Given the description of an element on the screen output the (x, y) to click on. 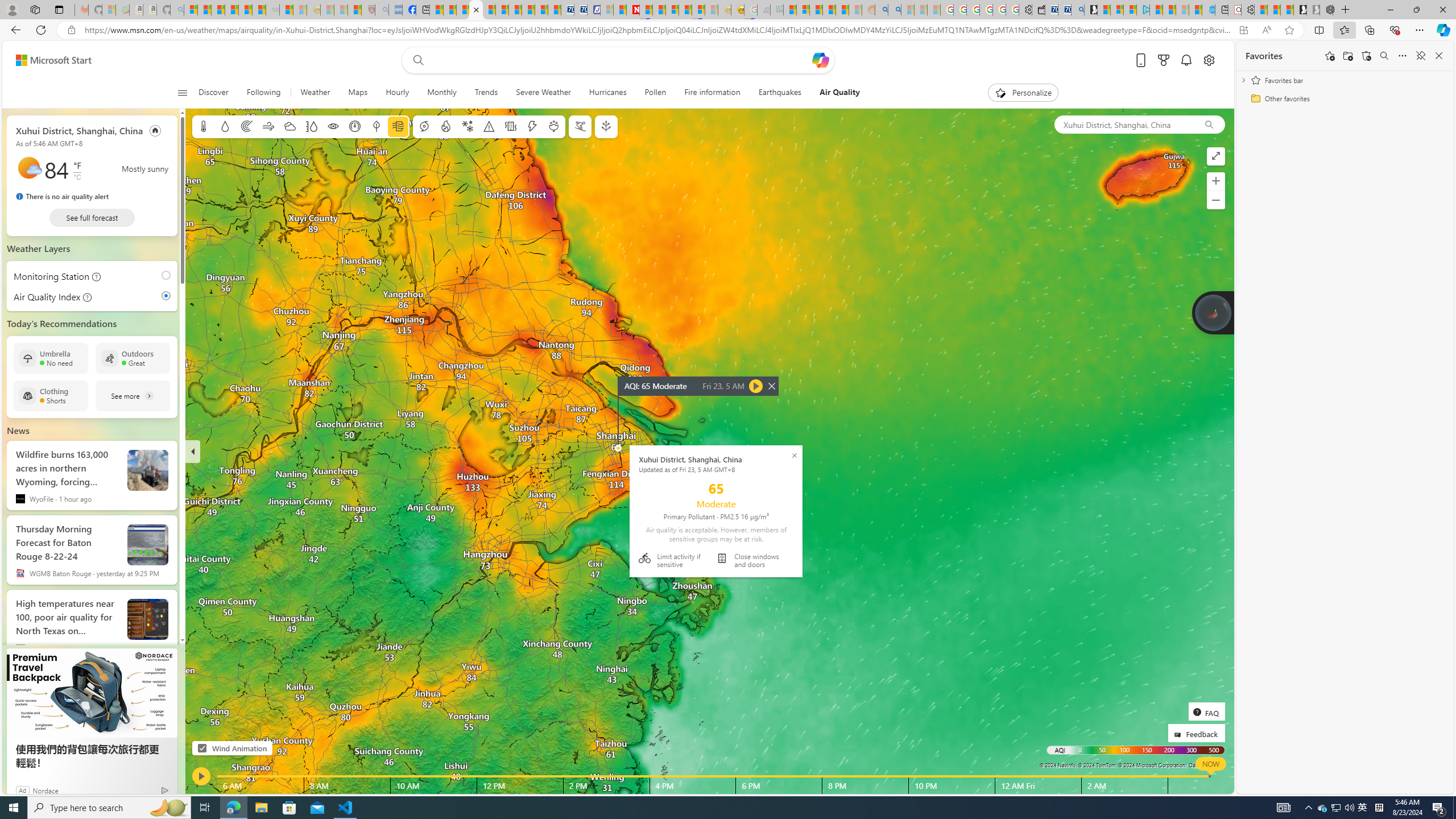
Add folder (1347, 55)
Dew point (376, 126)
Ad Choice (164, 790)
DITOGAMES AG Imprint - Sleeping (776, 9)
Pollen (553, 126)
Navy Quest (763, 9)
FAQ (1206, 711)
Cheap Hotels - Save70.com (580, 9)
Close favorites (1439, 55)
